Given the description of an element on the screen output the (x, y) to click on. 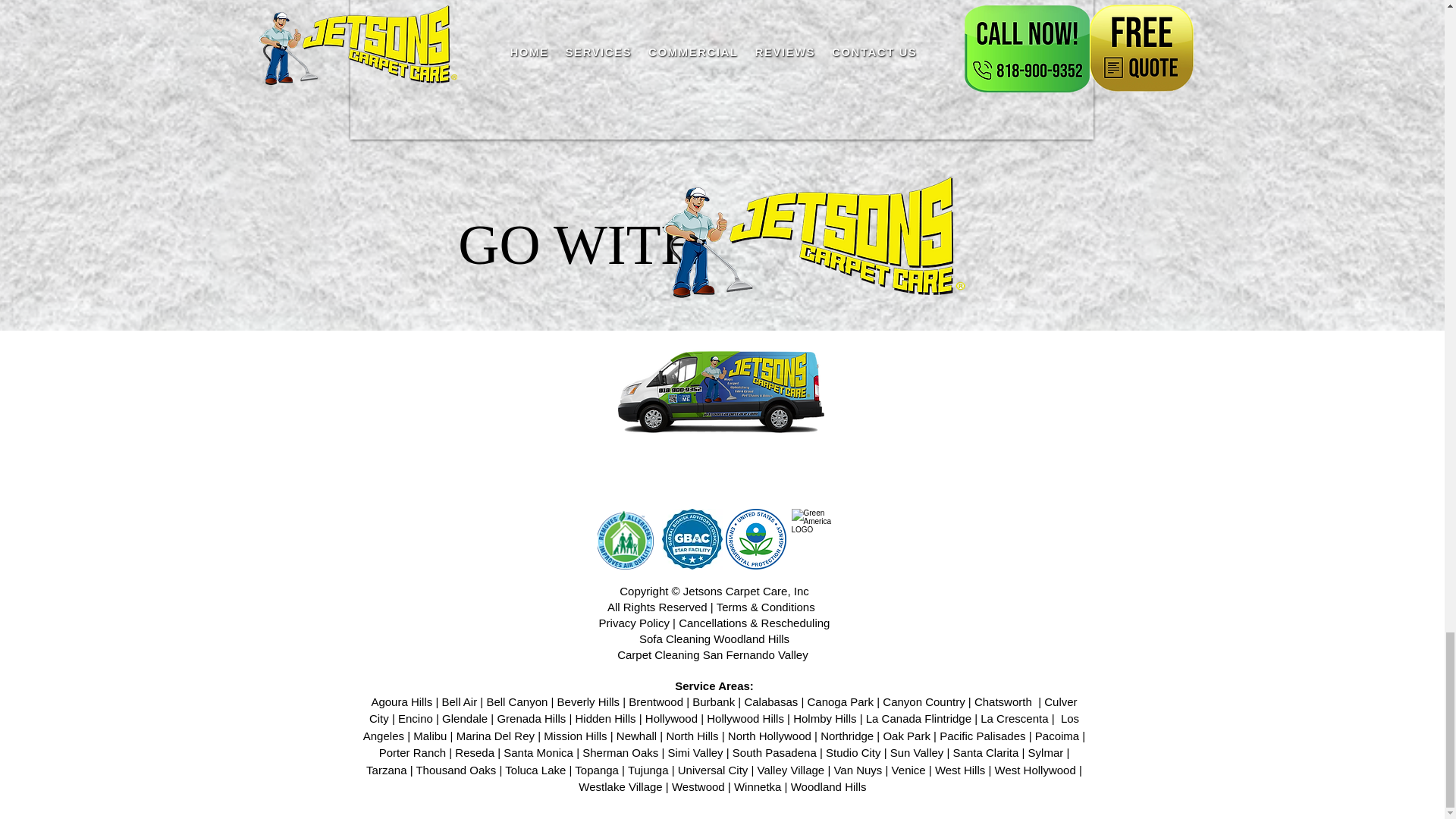
Encino (414, 717)
Agoura Hills (401, 701)
Bell Canyon (516, 701)
Beverly Hills (588, 701)
Culver City (723, 709)
Service Areas: (714, 685)
Sofa Cleaning Woodland Hills (714, 638)
Calabasas (770, 701)
Glendale (464, 717)
Burbank (714, 701)
Bell Air (459, 701)
Carpet Cleaning San Fernando Valley  (713, 654)
Brentwood (655, 701)
Canoga Park (839, 701)
Canyon Country (922, 701)
